Given the description of an element on the screen output the (x, y) to click on. 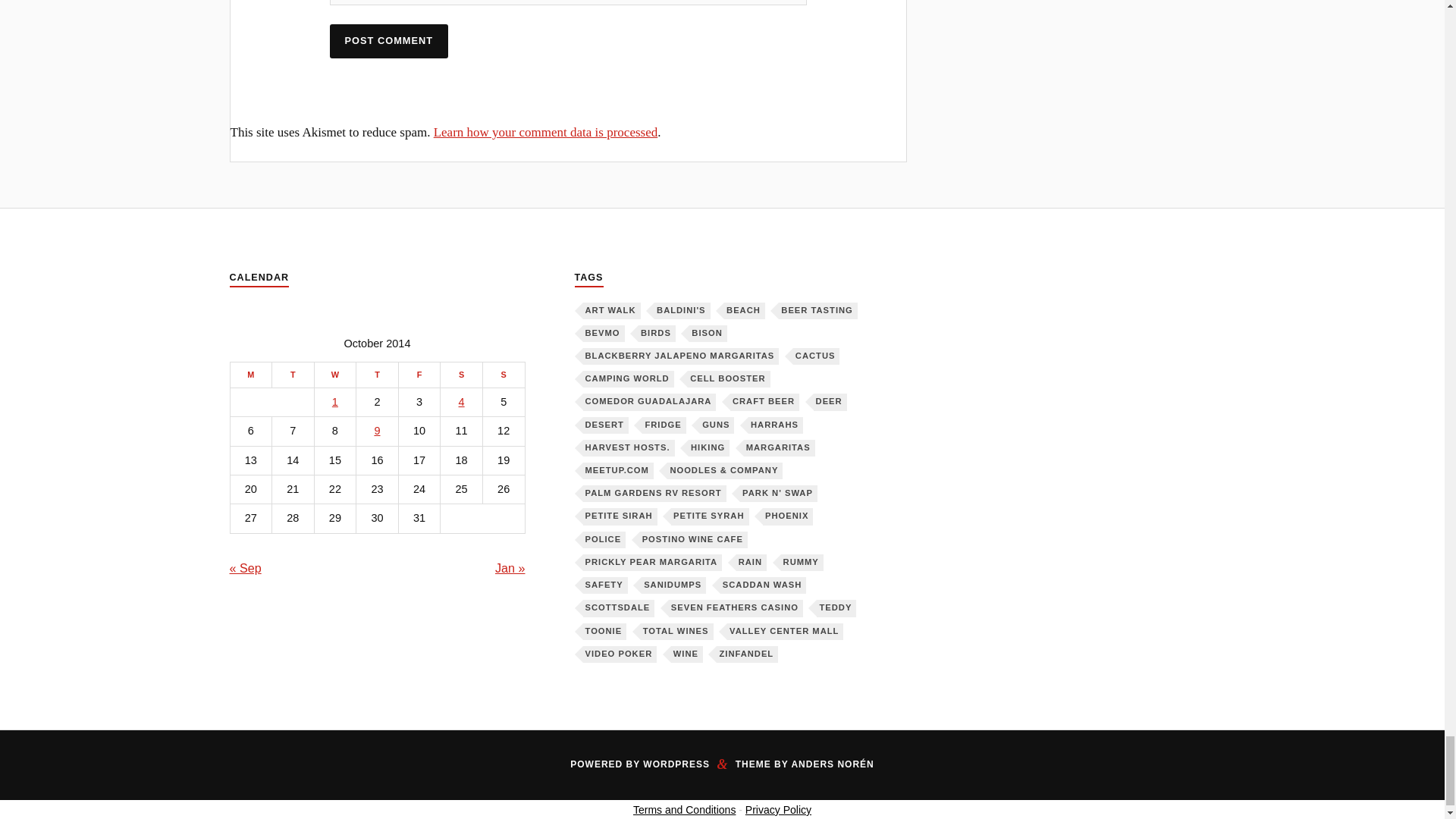
Post Comment (389, 41)
Monday (251, 374)
Thursday (377, 374)
Friday (419, 374)
Saturday (462, 374)
Tuesday (293, 374)
Sunday (502, 374)
Wednesday (335, 374)
